Given the description of an element on the screen output the (x, y) to click on. 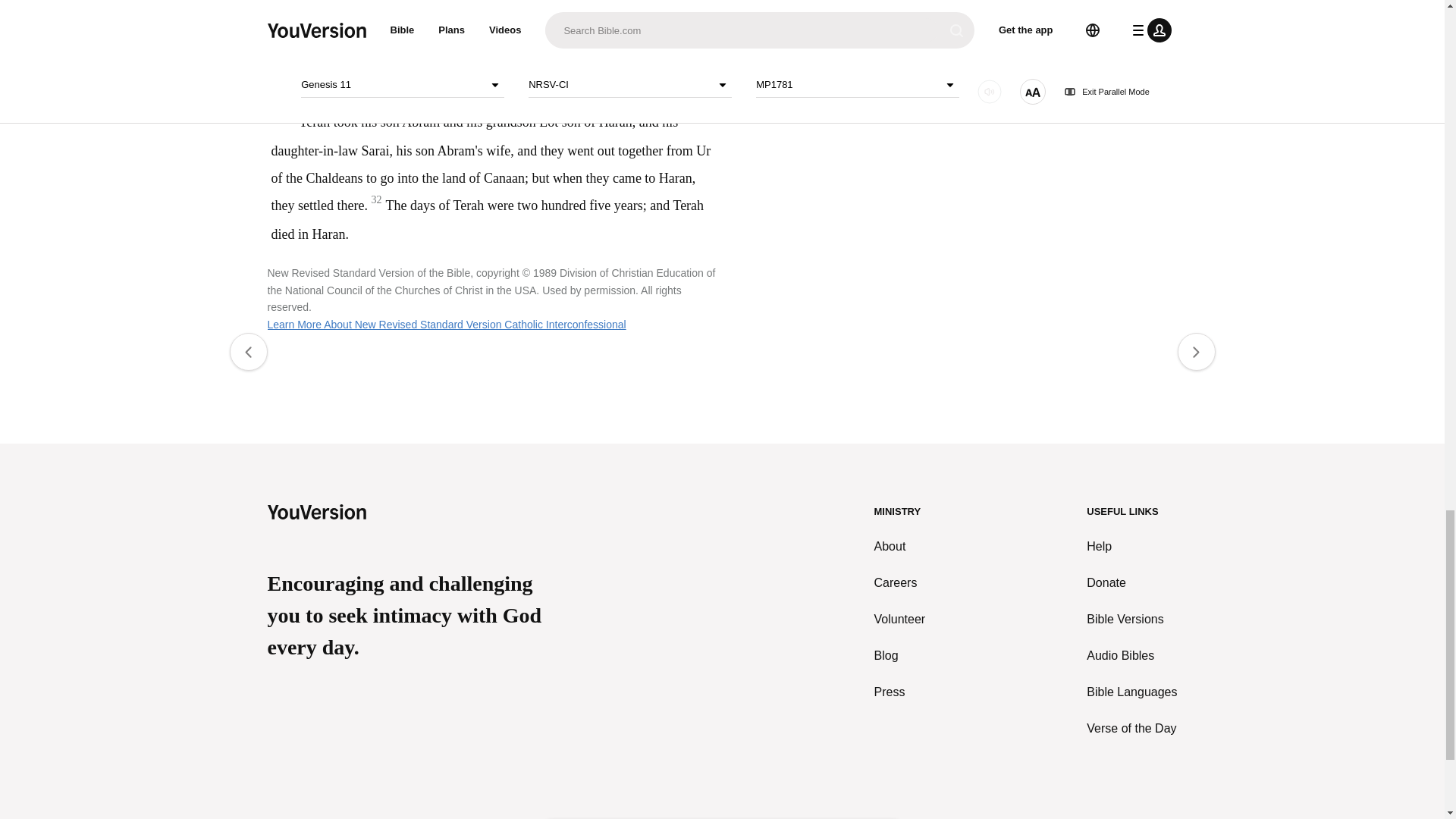
Help (1131, 546)
Volunteer (900, 619)
Bible Versions (1131, 619)
Verse of the Day (1131, 728)
Audio Bibles (1131, 656)
Careers (900, 583)
About (900, 546)
Donate (1131, 583)
Blog (900, 656)
Press (900, 692)
Bible Languages (1131, 692)
